Given the description of an element on the screen output the (x, y) to click on. 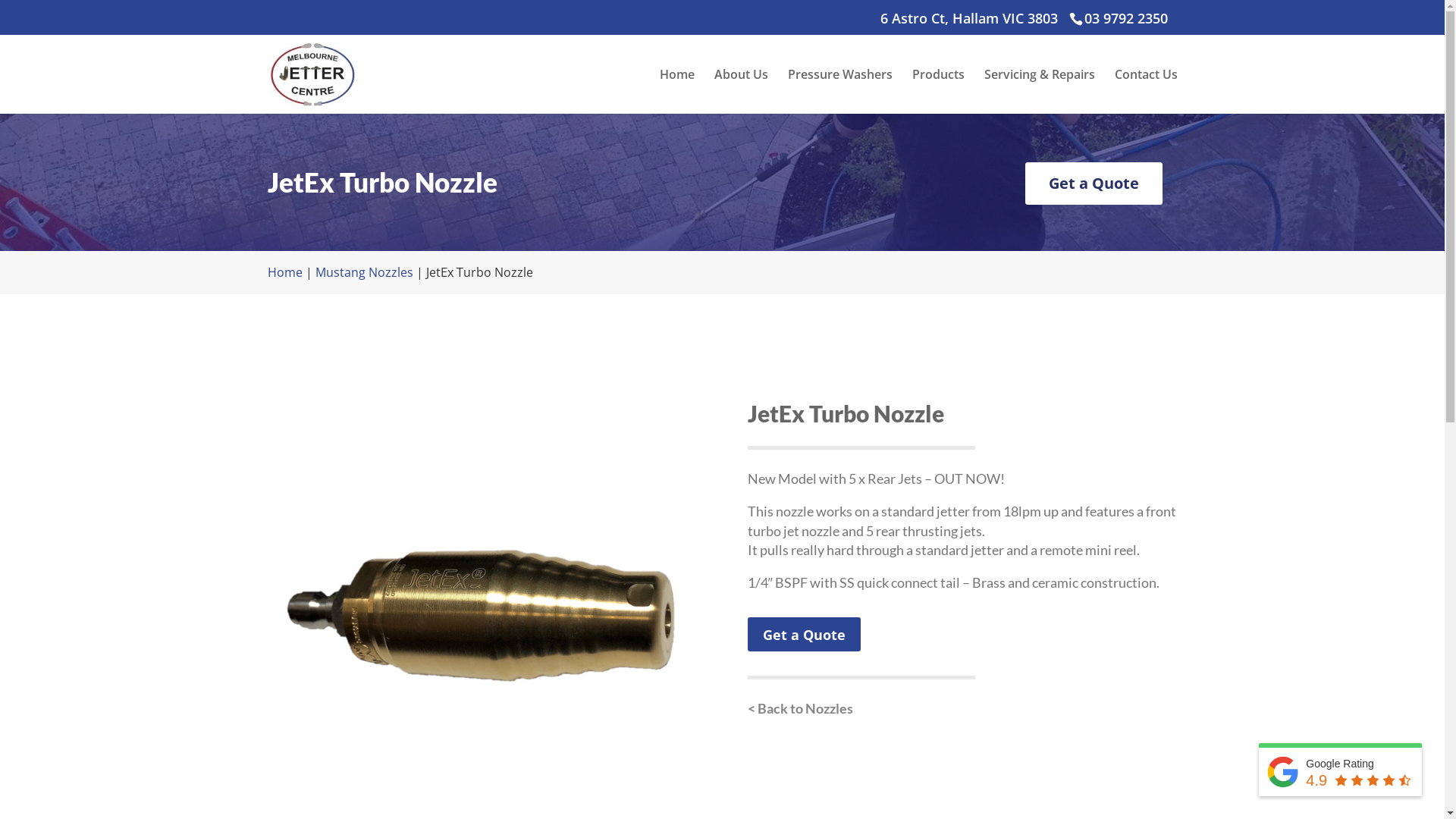
Mustang Nozzles Element type: text (364, 271)
Home Element type: text (283, 271)
03 9792 2350 Element type: text (1123, 18)
Contact Us Element type: text (1145, 91)
Get a Quote Element type: text (803, 634)
About Us Element type: text (741, 91)
Products Element type: text (937, 91)
Home Element type: text (676, 91)
Servicing & Repairs Element type: text (1039, 91)
Pressure Washers Element type: text (839, 91)
Get a Quote Element type: text (1093, 183)
